Given the description of an element on the screen output the (x, y) to click on. 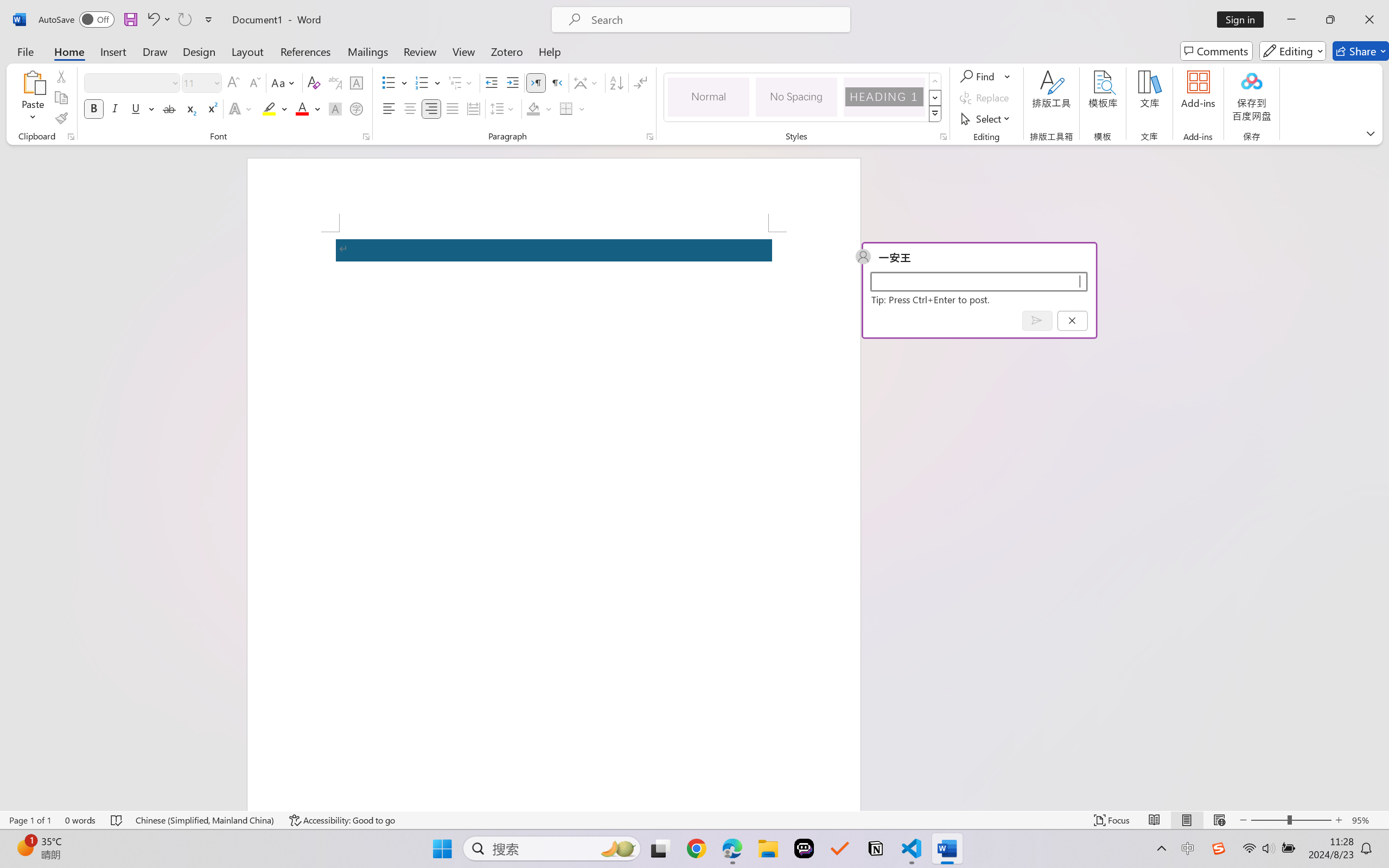
Shading No Color (533, 108)
Start a conversation (978, 281)
